Given the description of an element on the screen output the (x, y) to click on. 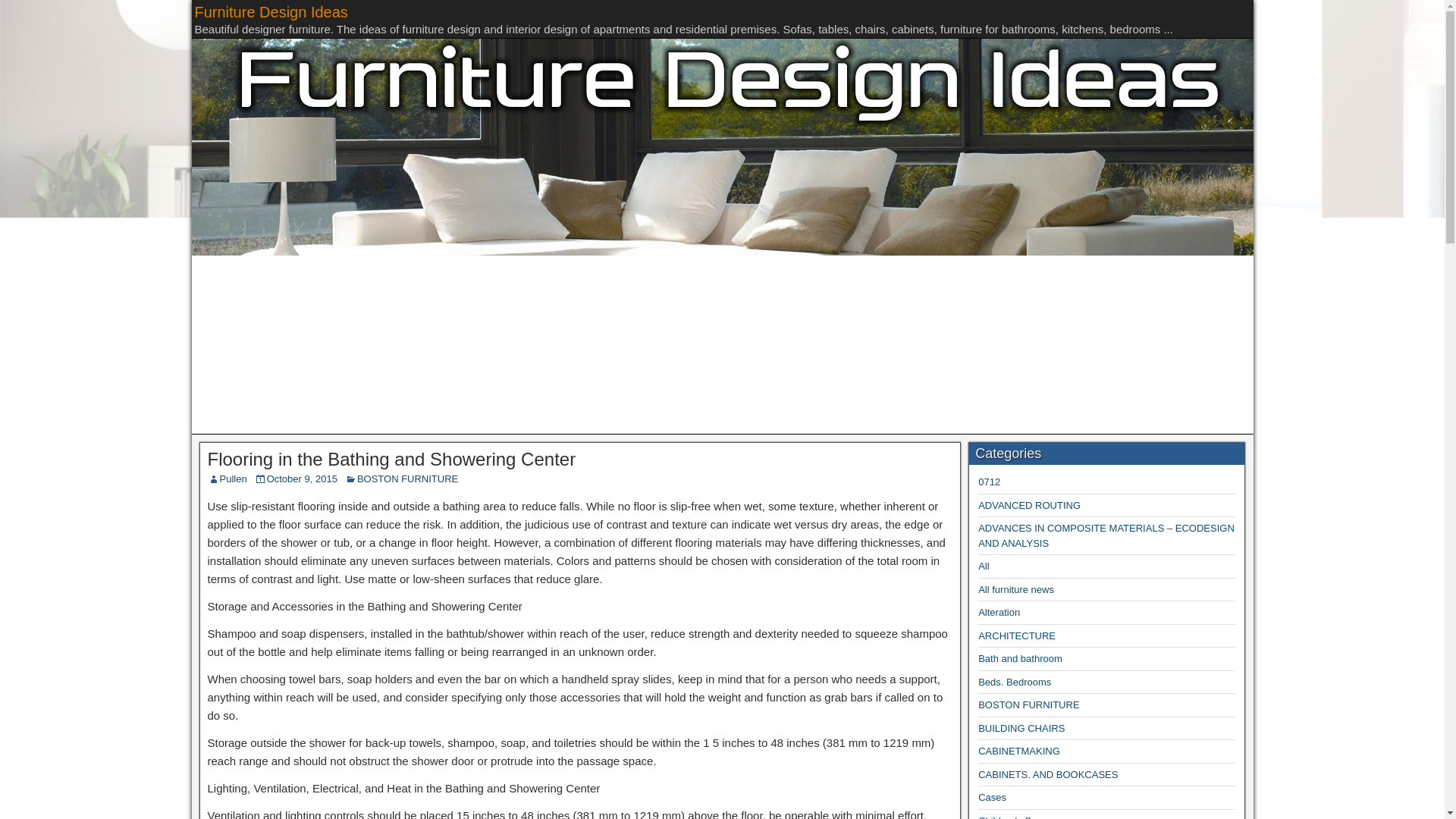
CABINETS. AND BOOKCASES (1048, 774)
CABINETMAKING (1018, 750)
BUILDING CHAIRS (1021, 727)
Pullen (233, 478)
All furniture news (1016, 589)
Flooring in the Bathing and Showering Center (392, 458)
Cases (992, 797)
Alteration (999, 612)
ADVANCED ROUTING (1029, 505)
Bath and bathroom (1020, 658)
